Given the description of an element on the screen output the (x, y) to click on. 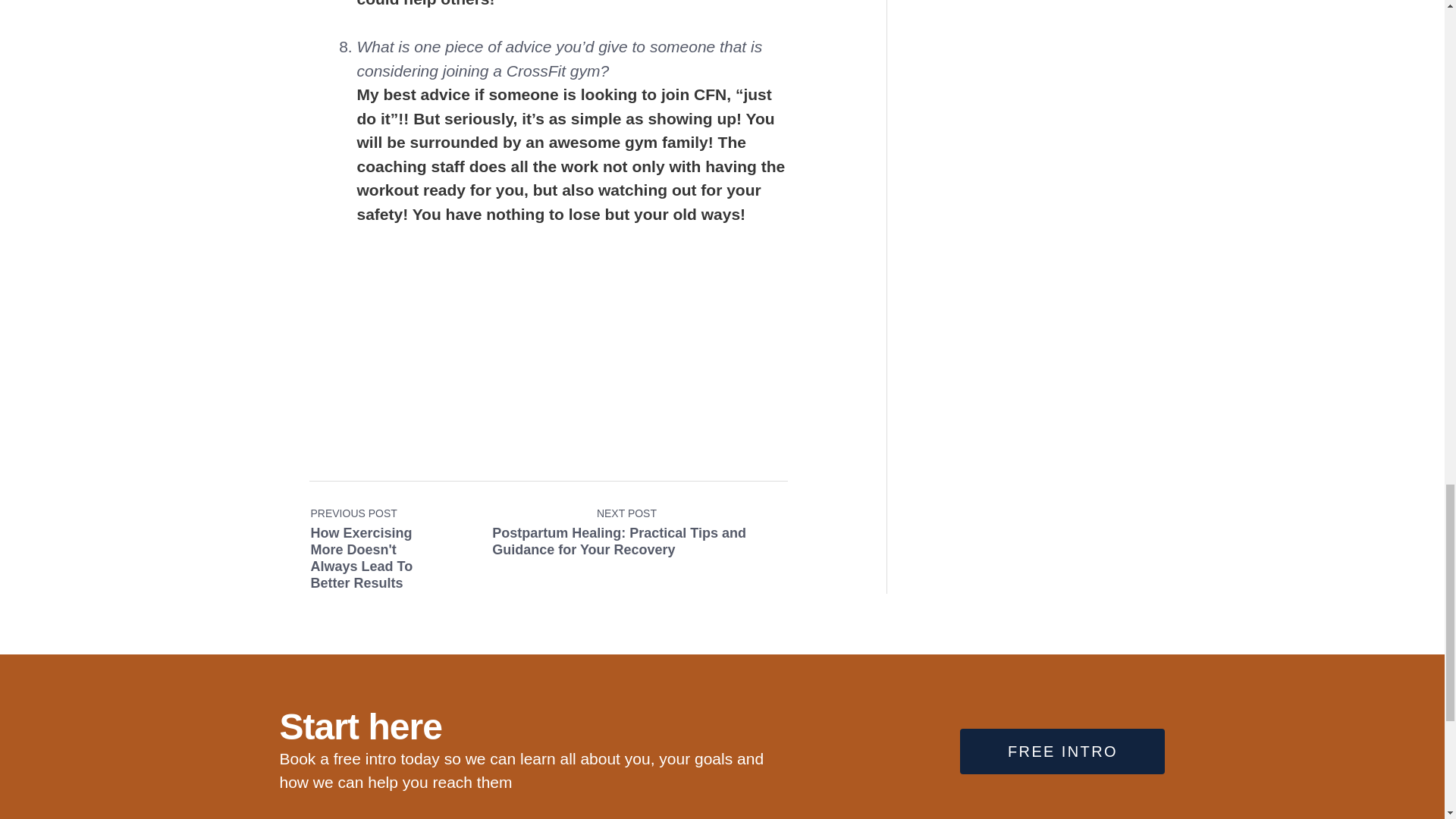
FREE INTRO (1061, 750)
How Exercising More Doesn't Always Lead To Better Results (387, 525)
